Given the description of an element on the screen output the (x, y) to click on. 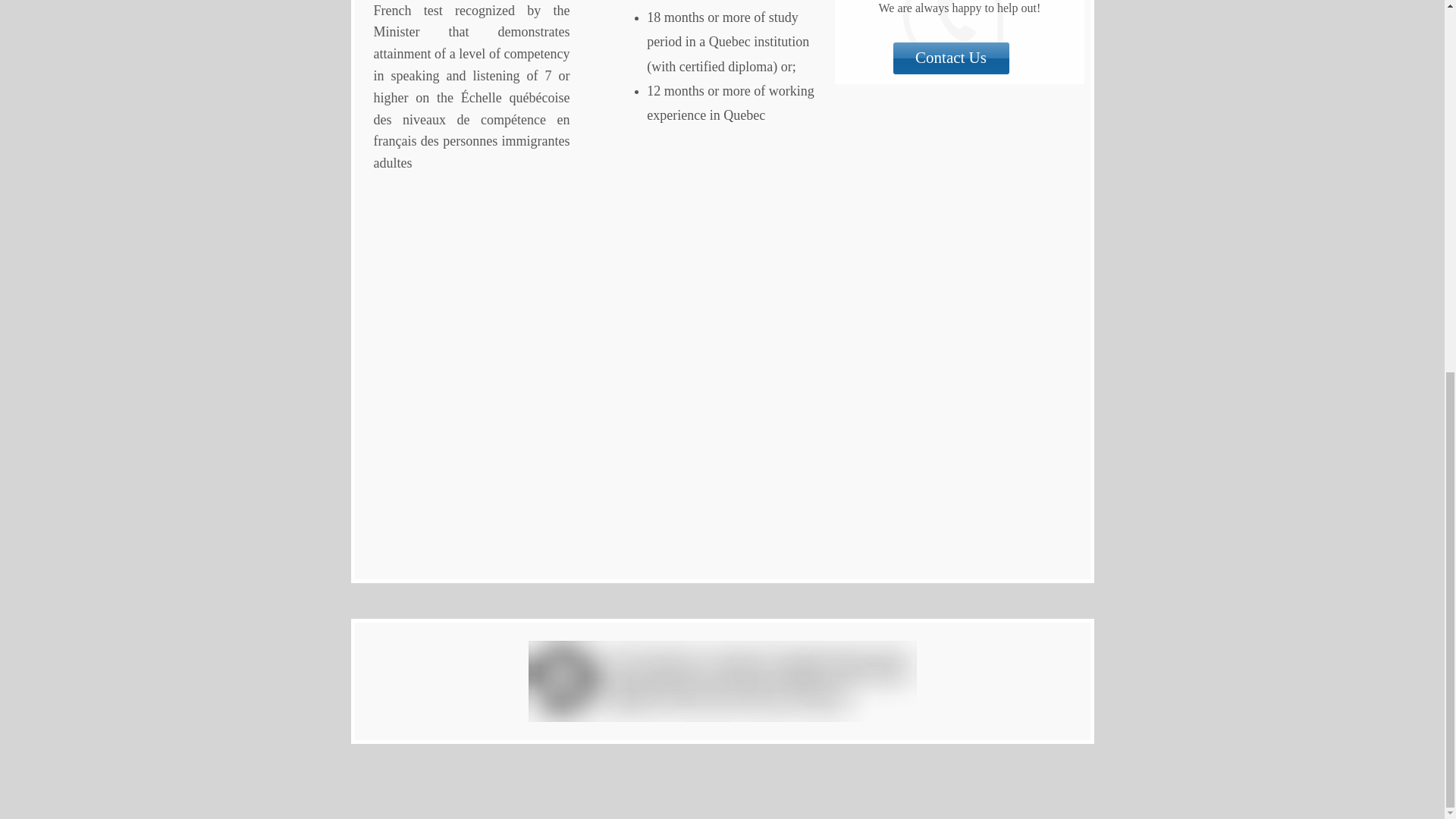
Contact Us (951, 58)
